Given the description of an element on the screen output the (x, y) to click on. 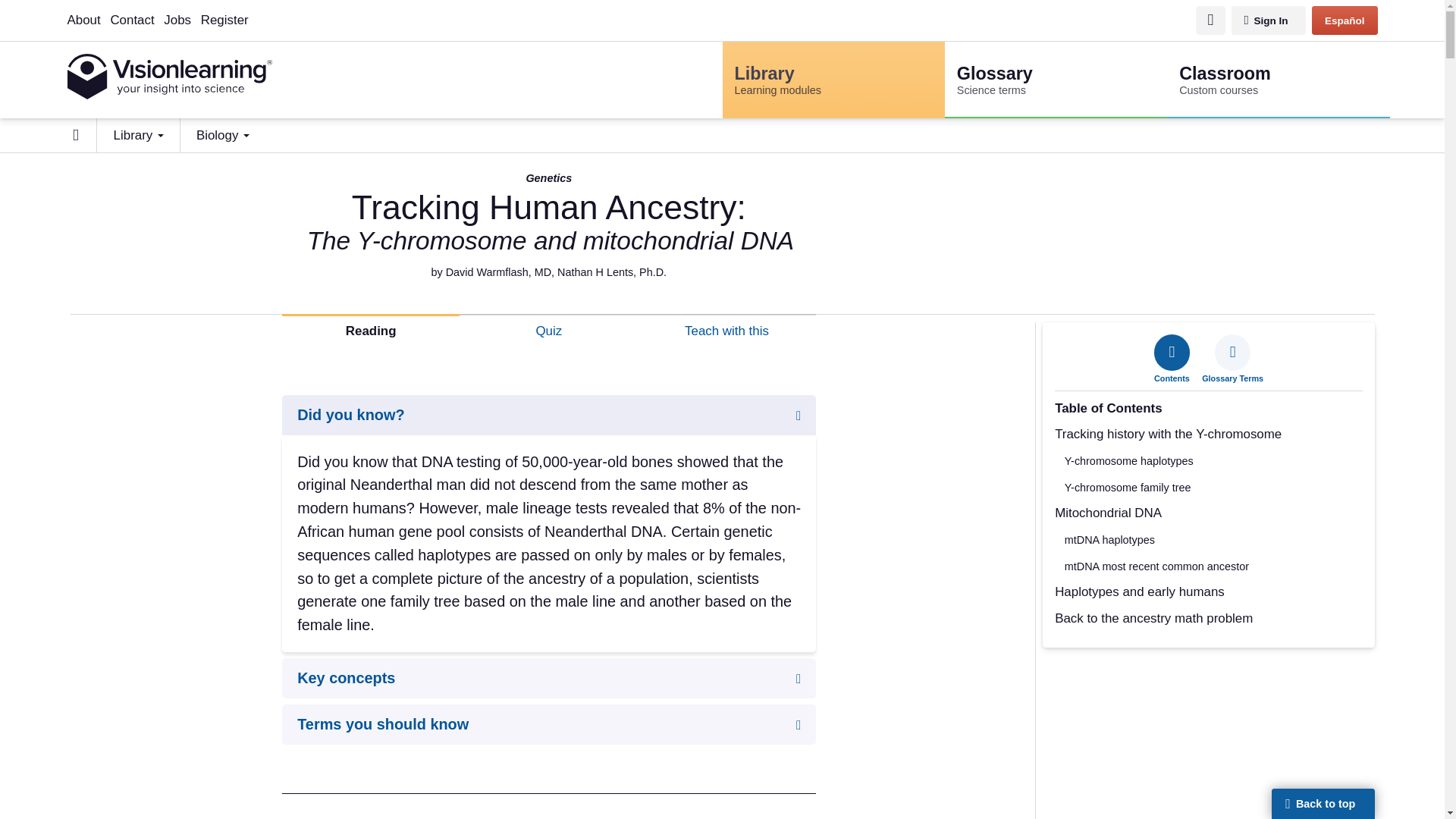
Library (832, 79)
Jobs (138, 134)
Sign In (176, 20)
Jump to main content (1268, 20)
Register (1278, 79)
About (738, 9)
Advertisement (224, 20)
Contact (1055, 79)
